Given the description of an element on the screen output the (x, y) to click on. 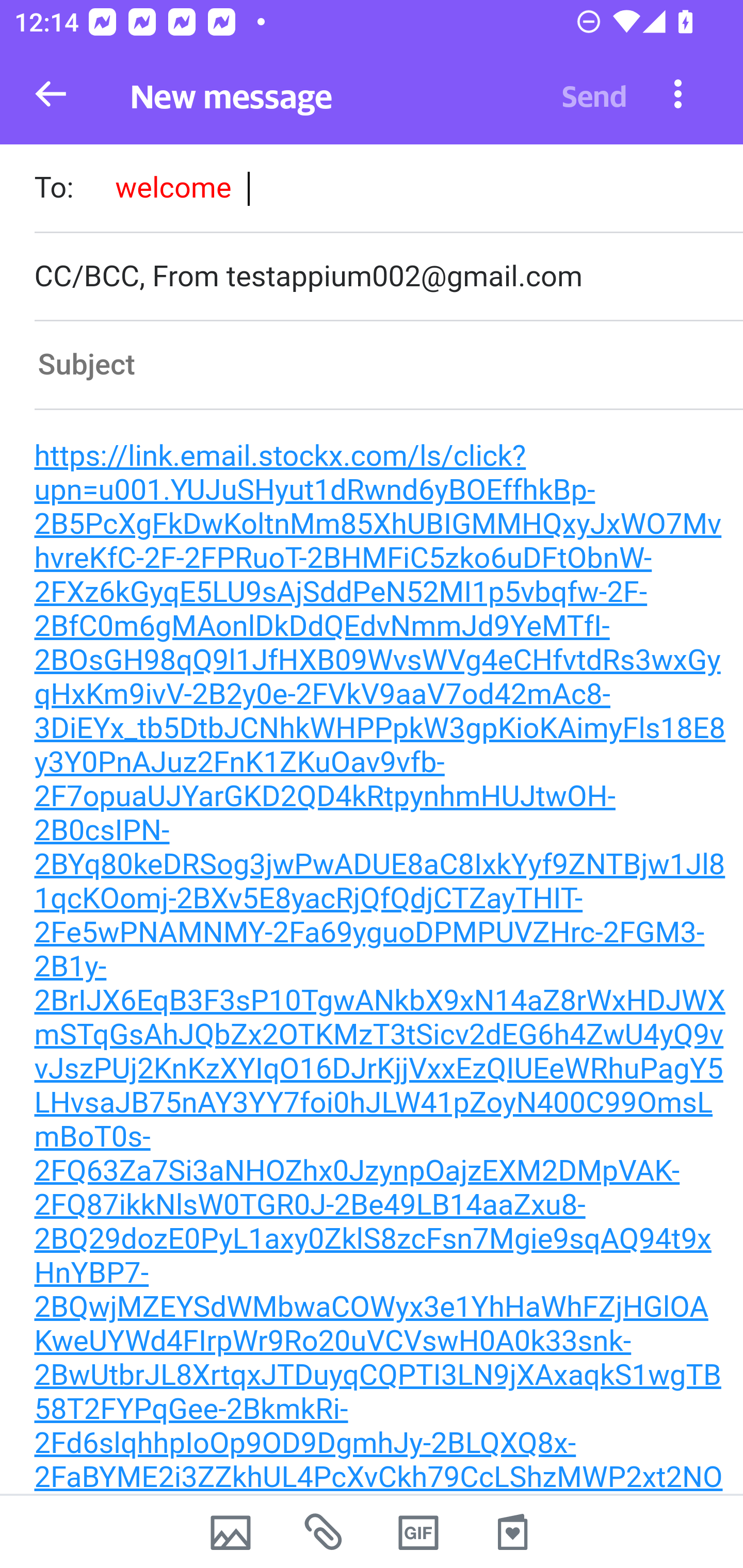
Back (50, 93)
Send (594, 93)
More options (677, 93)
welcome (173, 187)
CC/BCC, From testappium002@gmail.com (387, 276)
Camera photos (230, 1531)
Recent attachments from mail (324, 1531)
GIFs (417, 1531)
Stationery (512, 1531)
